Given the description of an element on the screen output the (x, y) to click on. 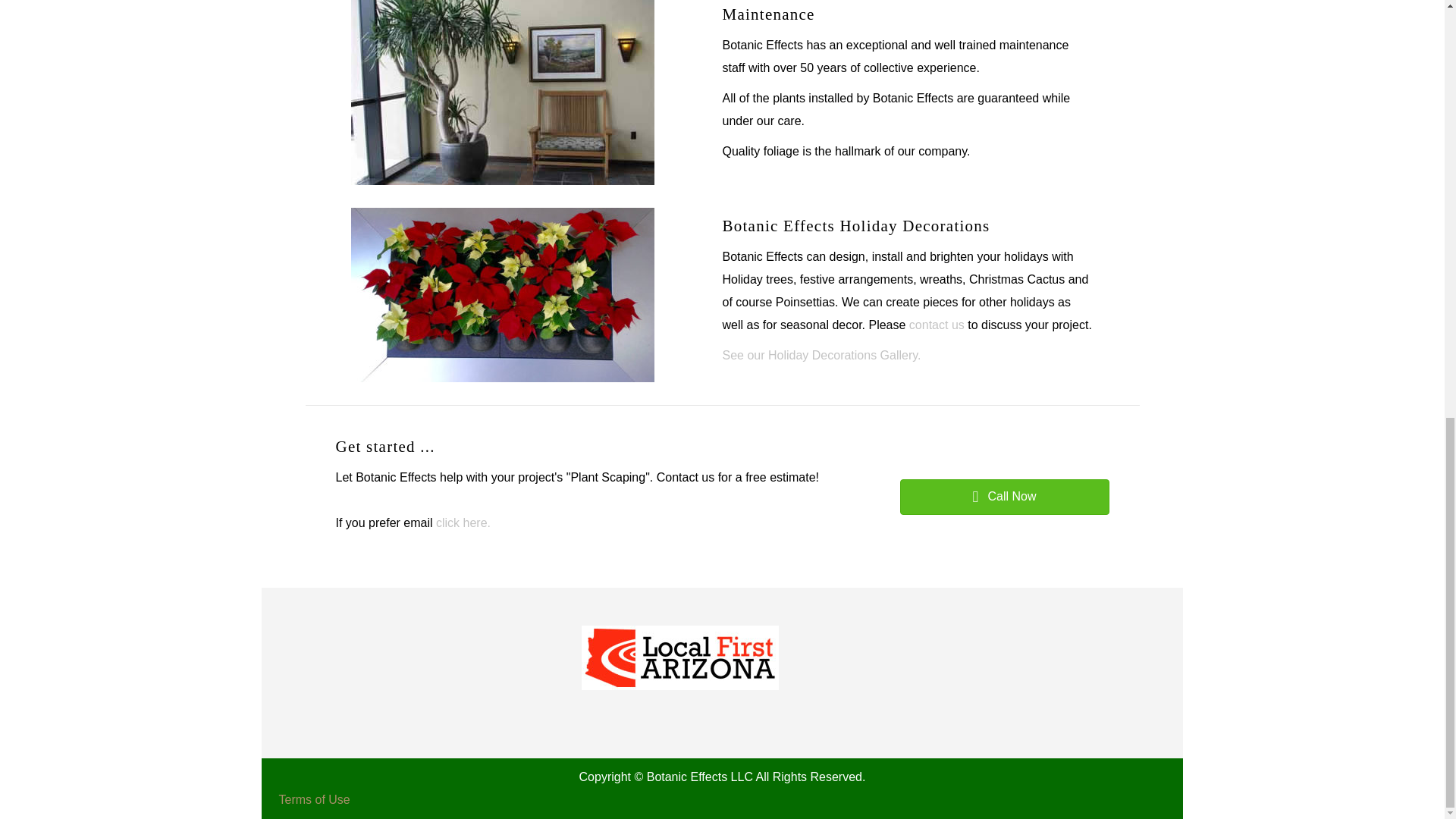
contact us (938, 324)
LivingWallPoinsettias (501, 295)
See our Holiday Decorations Gallery. (821, 354)
click here. (462, 522)
